Given the description of an element on the screen output the (x, y) to click on. 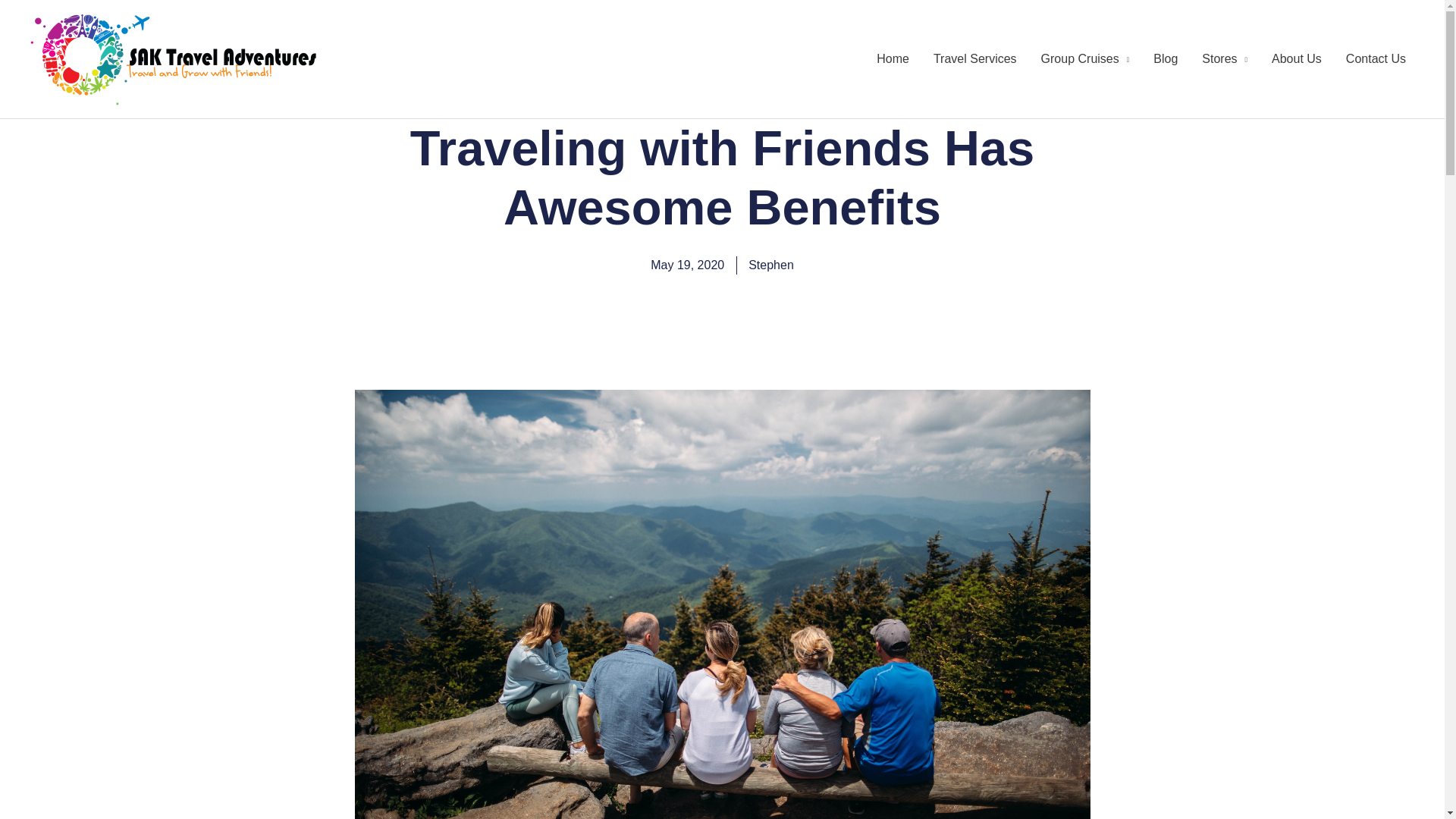
Group Cruises (1085, 58)
May 19, 2020 (686, 265)
Travel Services (975, 58)
Stephen (770, 265)
